Given the description of an element on the screen output the (x, y) to click on. 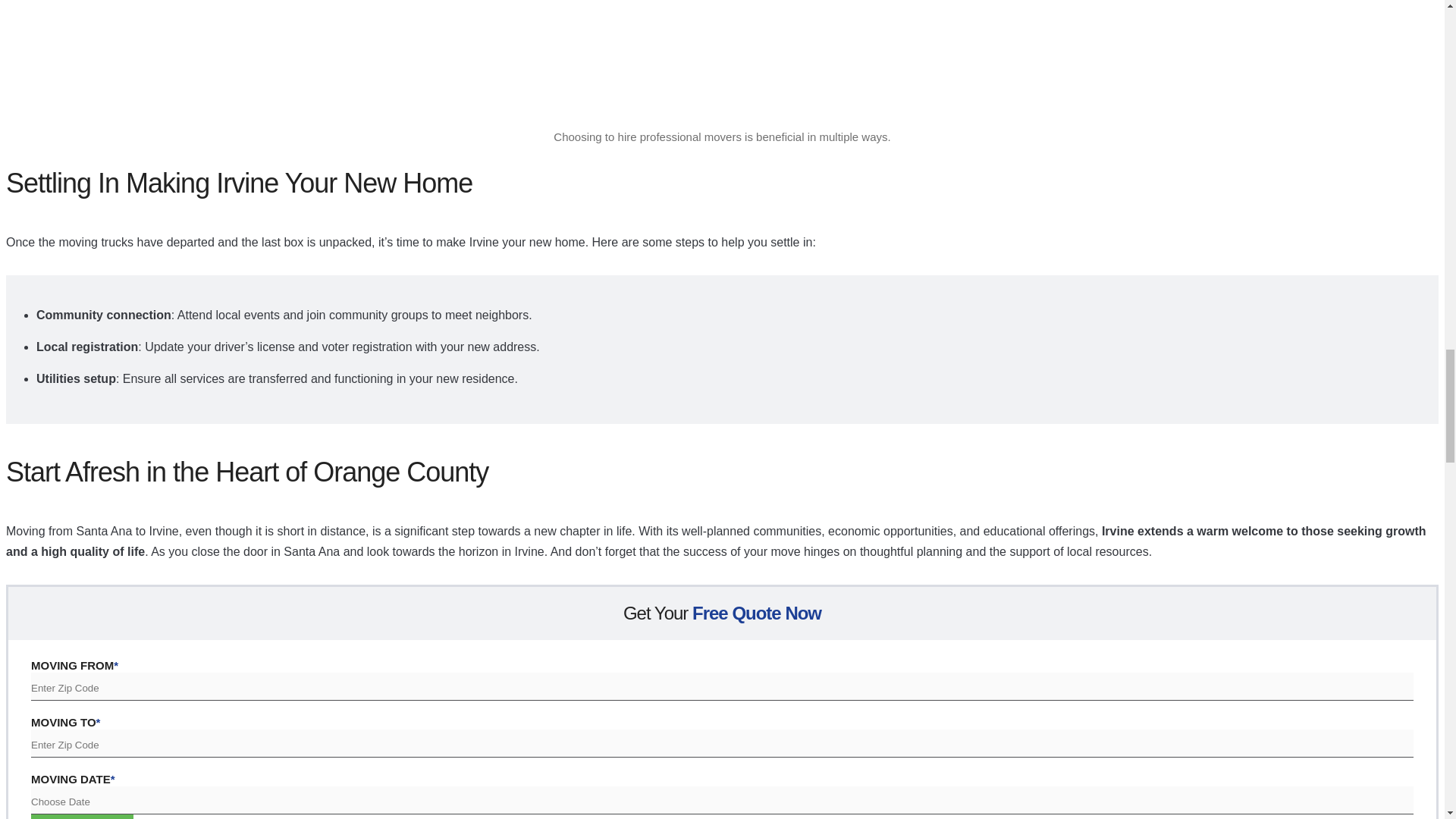
Get A Quote (81, 816)
